Given the description of an element on the screen output the (x, y) to click on. 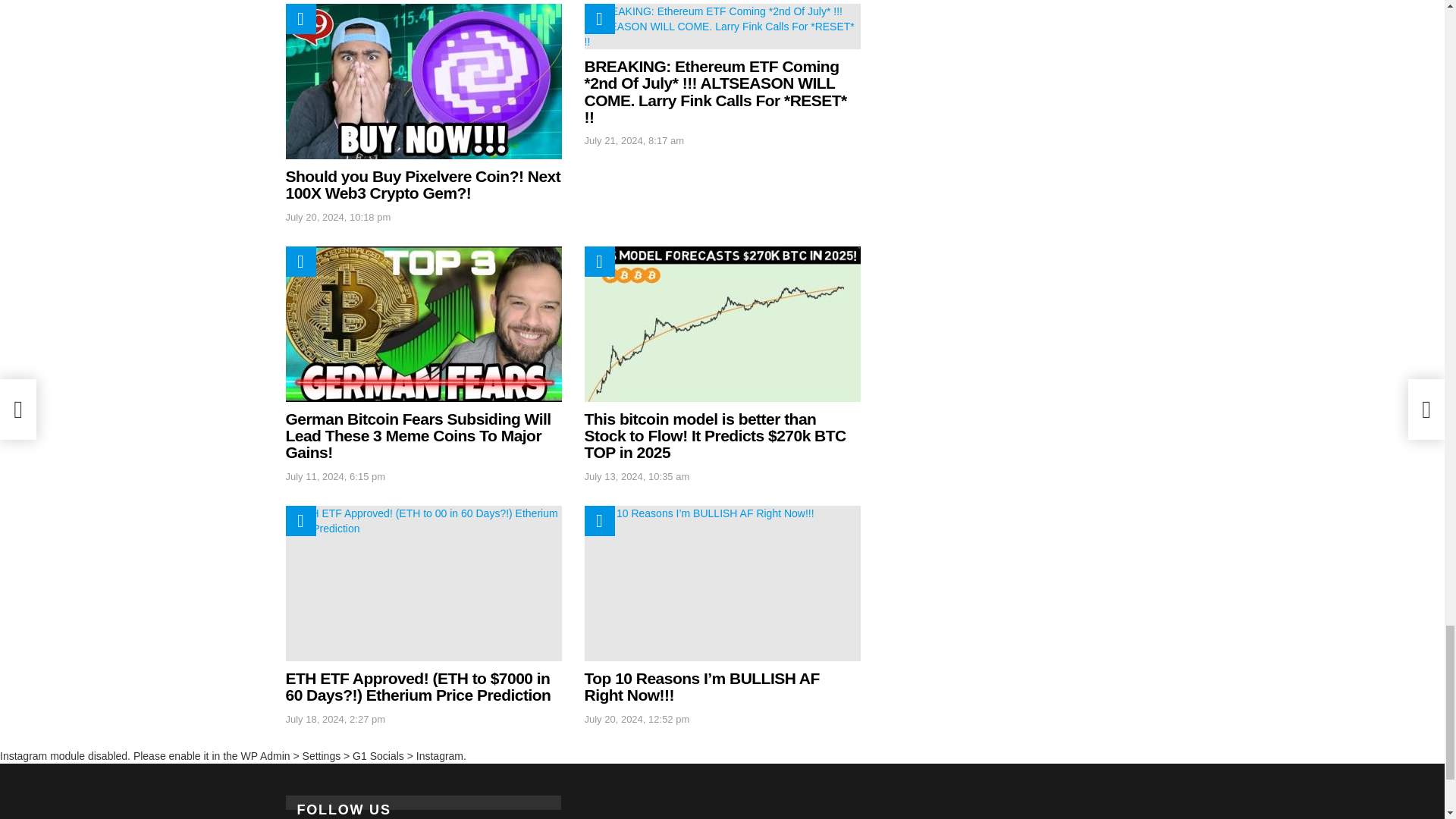
Should you Buy Pixelvere Coin?! Next 100X Web3 Crypto Gem?! (422, 81)
Hot (300, 19)
Hot (300, 261)
Hot (598, 261)
Hot (598, 19)
